Given the description of an element on the screen output the (x, y) to click on. 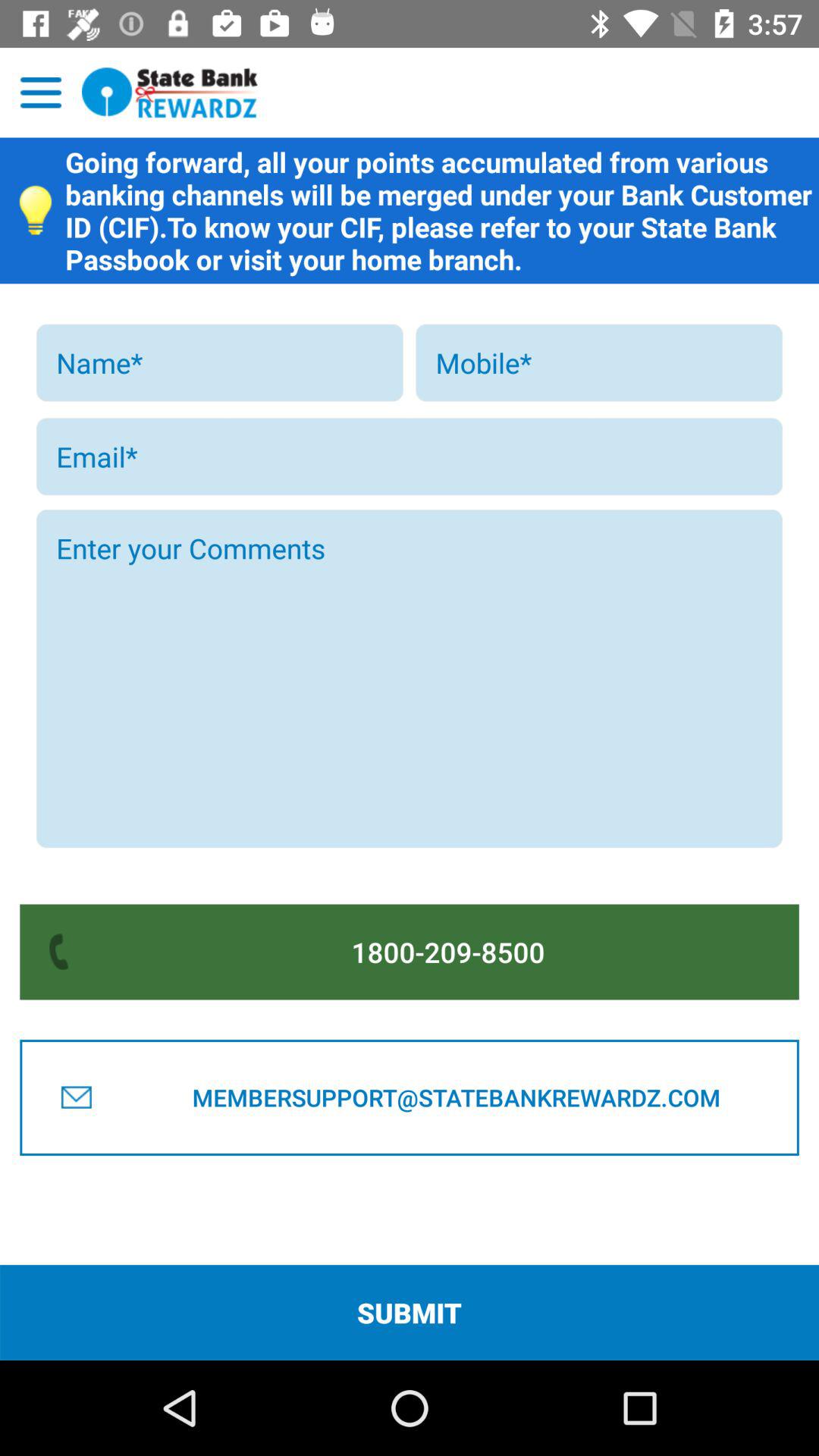
swipe until the 1800-209-8500 button (448, 951)
